Given the description of an element on the screen output the (x, y) to click on. 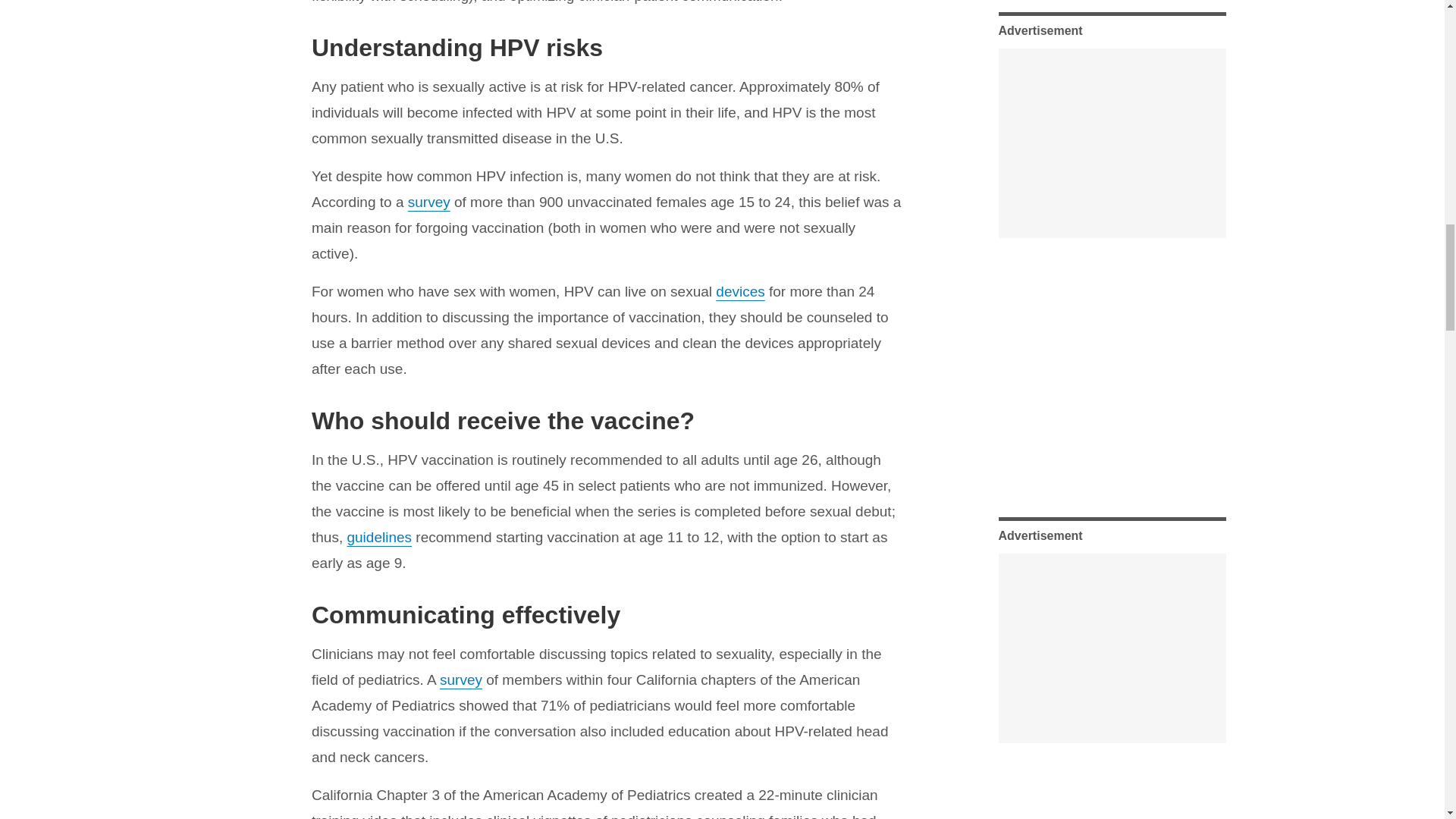
survey (428, 201)
survey (460, 679)
devices (740, 291)
guidelines (379, 537)
